Given the description of an element on the screen output the (x, y) to click on. 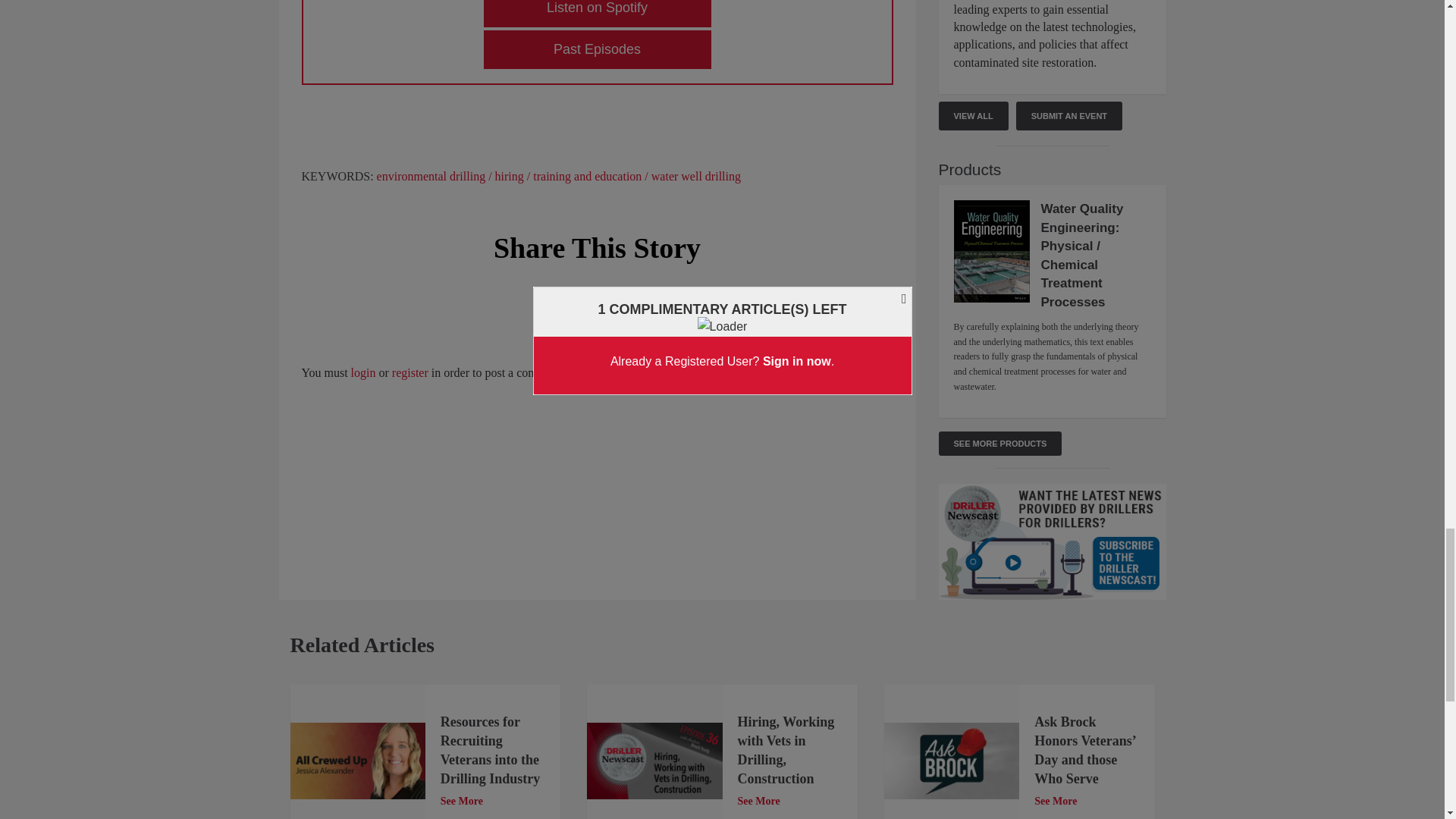
Jessica Alexander (357, 760)
Ask Brock video series (951, 760)
